Given the description of an element on the screen output the (x, y) to click on. 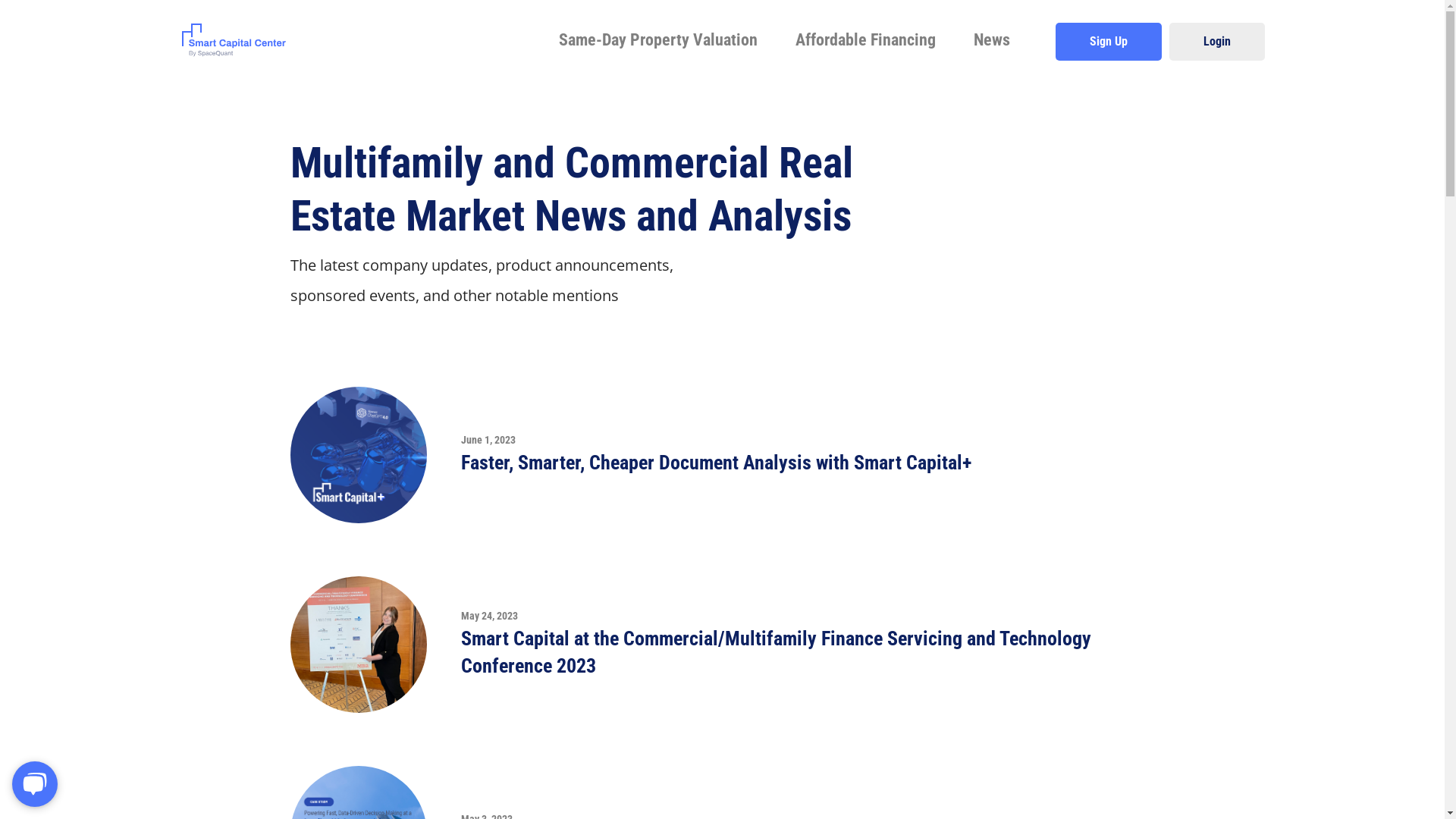
Affordable Financing Element type: text (864, 39)
Sign Up Element type: text (1108, 41)
Same-Day Property Valuation Element type: text (657, 39)
News Element type: text (991, 39)
Login Element type: text (1216, 41)
